Given the description of an element on the screen output the (x, y) to click on. 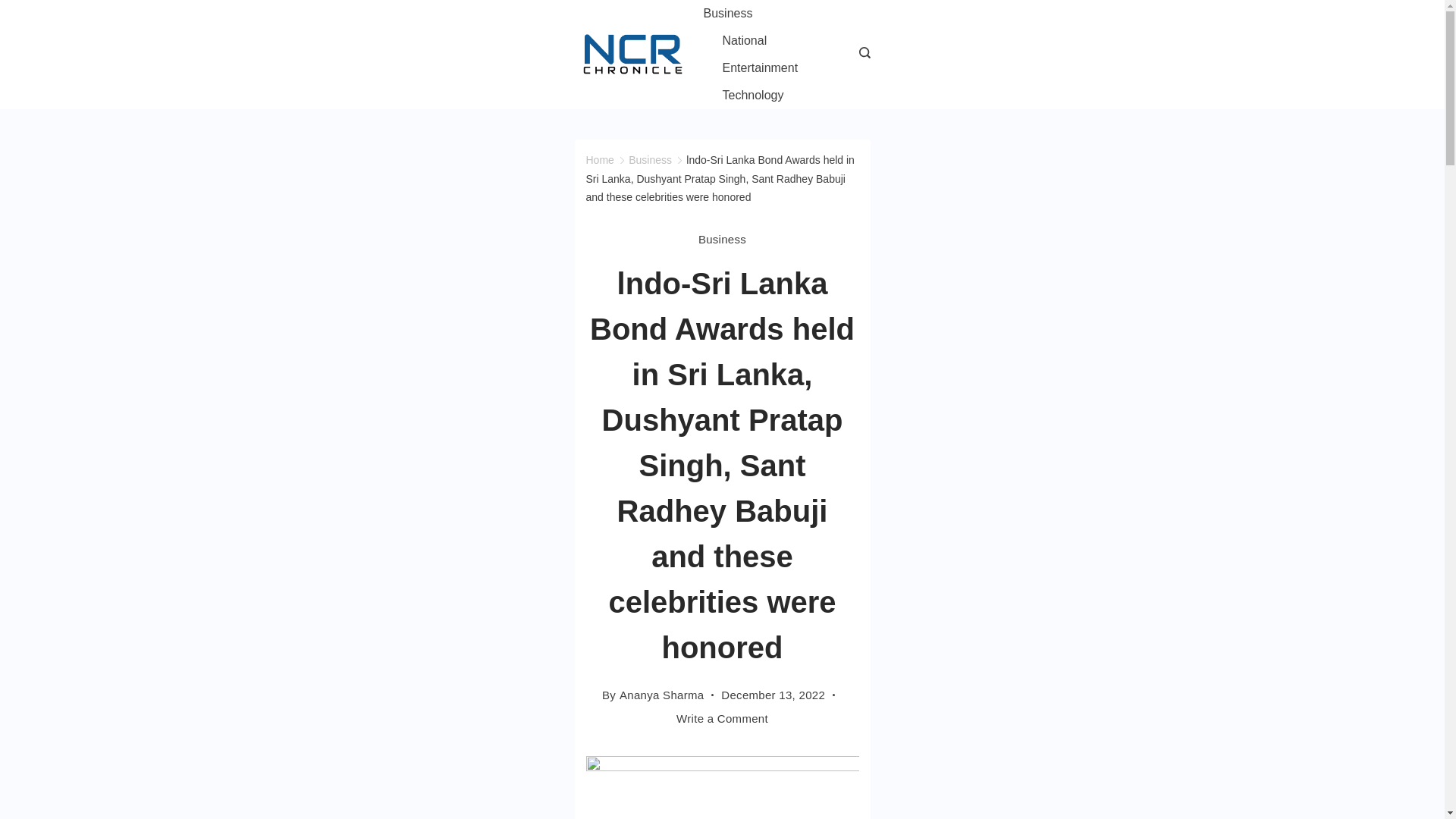
Technology (743, 94)
Business (721, 238)
Business (737, 13)
Entertainment (759, 67)
Ananya Sharma (661, 694)
Business (649, 159)
National (744, 40)
Home (598, 159)
